Given the description of an element on the screen output the (x, y) to click on. 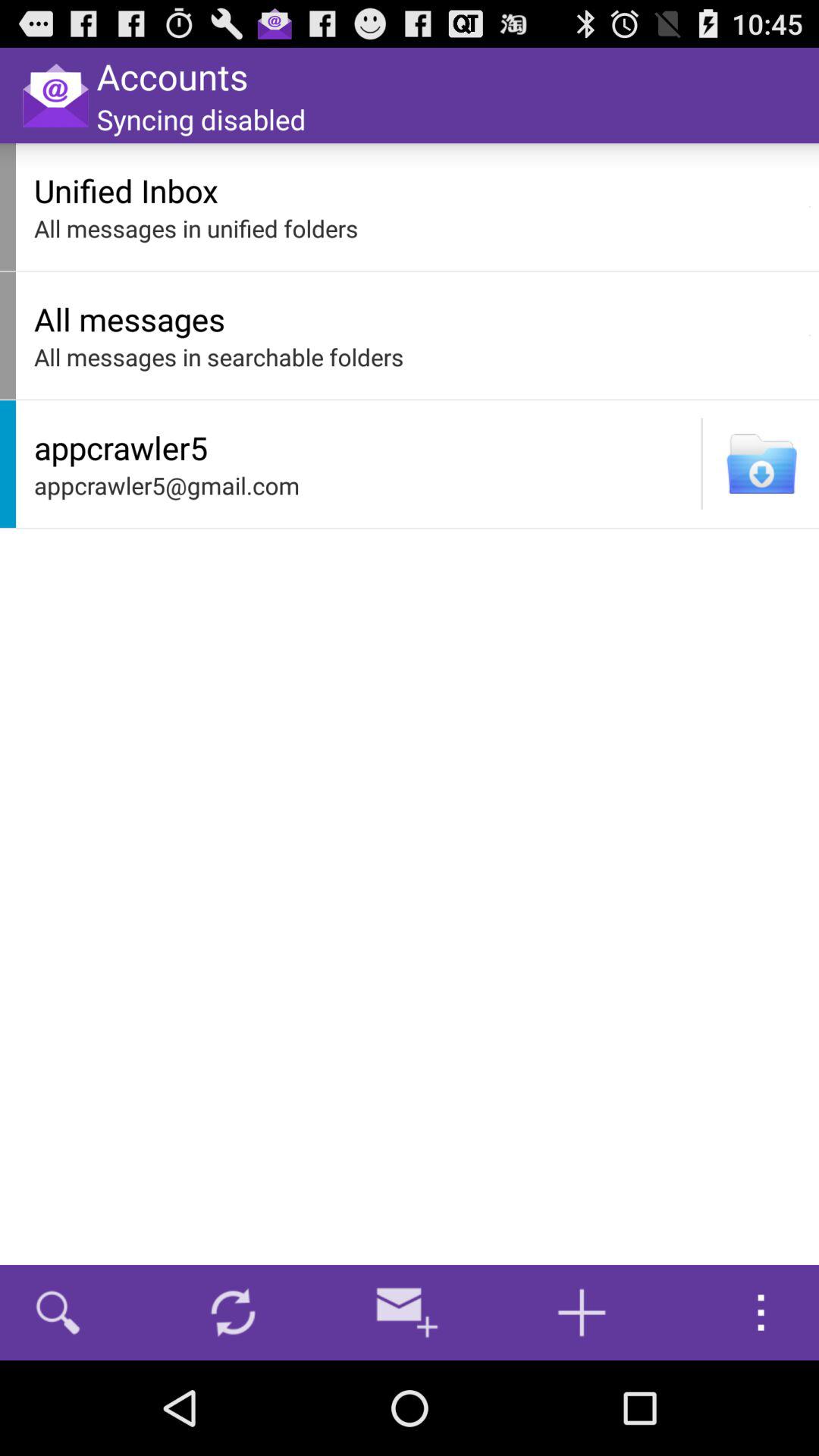
open the item next to the all messages app (809, 335)
